Given the description of an element on the screen output the (x, y) to click on. 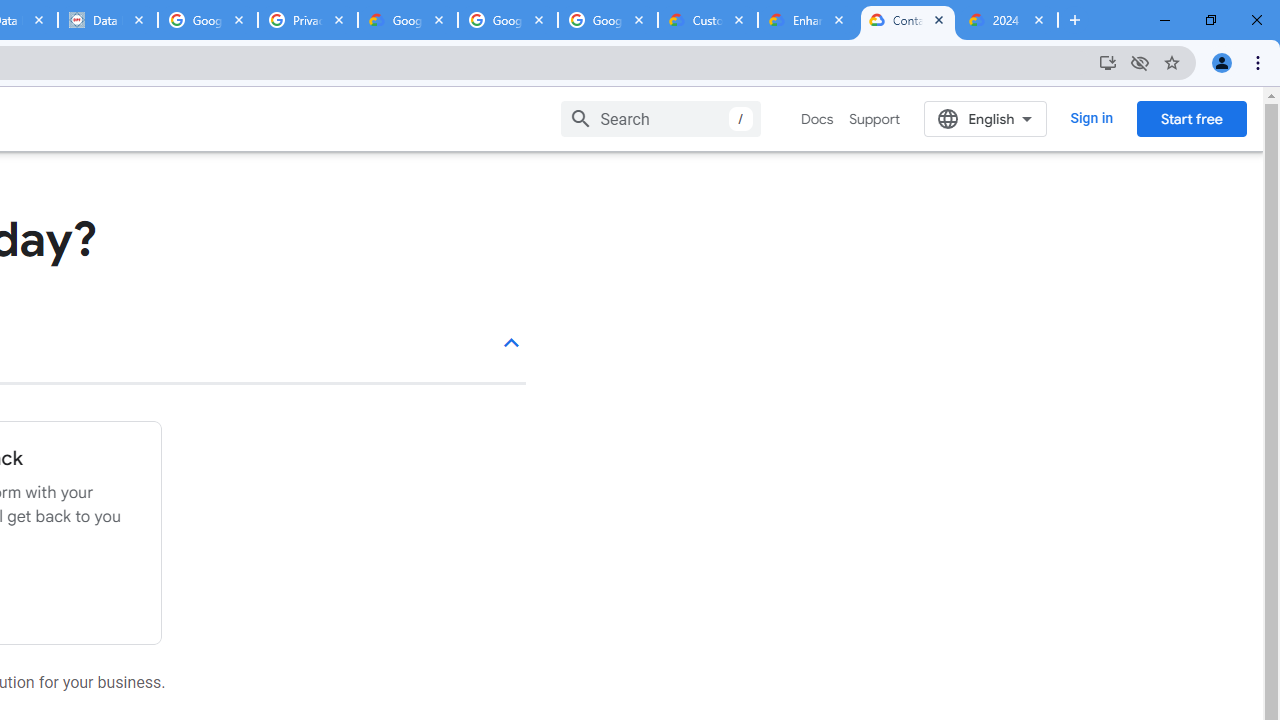
Search (660, 118)
English (985, 118)
Docs (817, 119)
Enhanced Support | Google Cloud (807, 20)
Data Privacy Framework (107, 20)
Google Workspace - Specific Terms (508, 20)
Google Cloud Terms Directory | Google Cloud (408, 20)
Install Google Cloud (1107, 62)
